Given the description of an element on the screen output the (x, y) to click on. 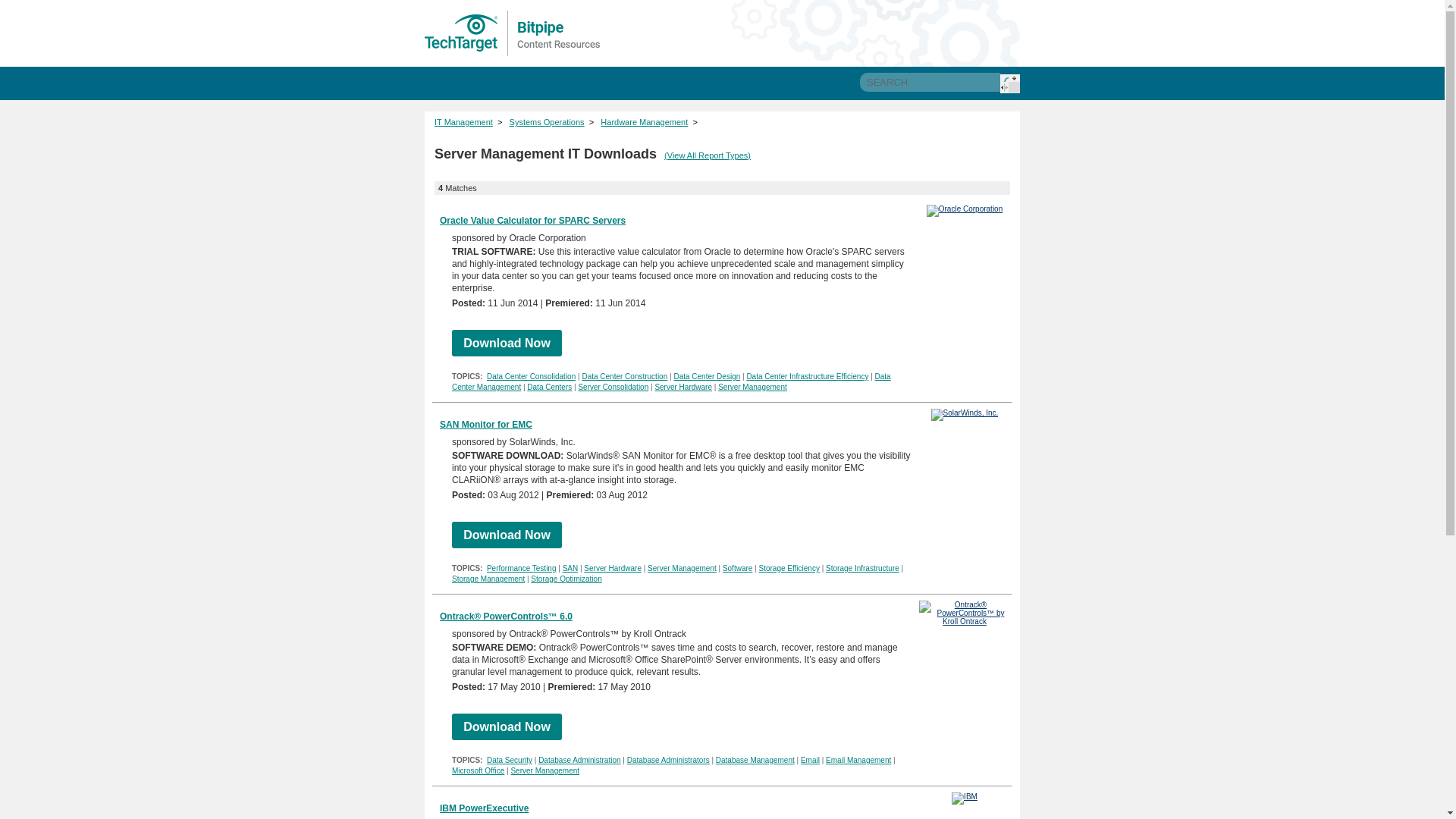
Storage Efficiency (788, 568)
Data Center Consolidation (530, 376)
SAN Monitor for EMC (485, 424)
Microsoft Office (477, 770)
Server Hardware (612, 568)
Storage Infrastructure (862, 568)
Database Administration (579, 759)
Email (809, 759)
Hardware Management (643, 121)
Storage Optimization (566, 578)
Server Management (752, 387)
Performance Testing (521, 568)
Server Hardware (682, 387)
Go! (1010, 83)
Systems Operations (547, 121)
